Given the description of an element on the screen output the (x, y) to click on. 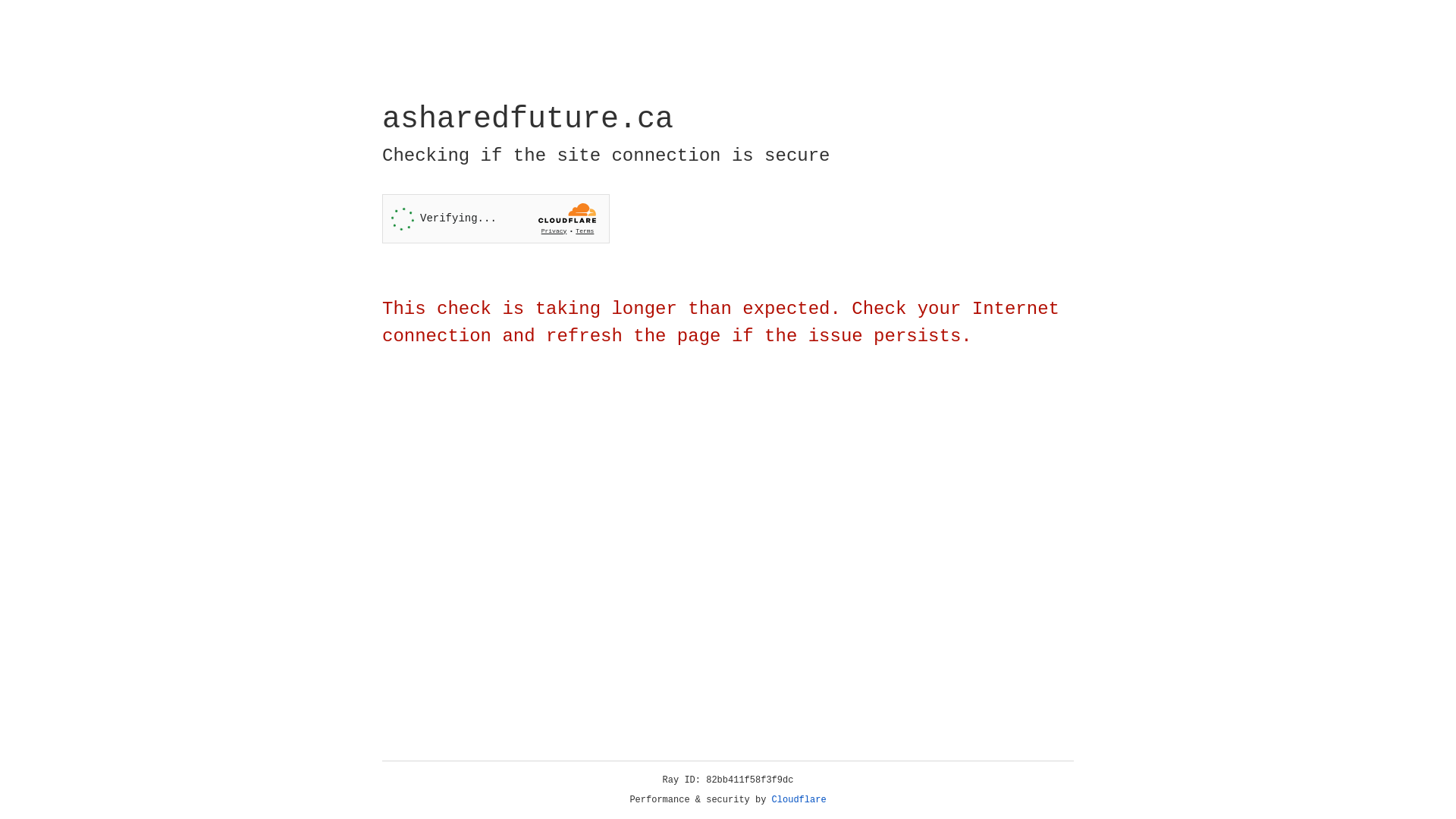
Cloudflare Element type: text (798, 799)
